Given the description of an element on the screen output the (x, y) to click on. 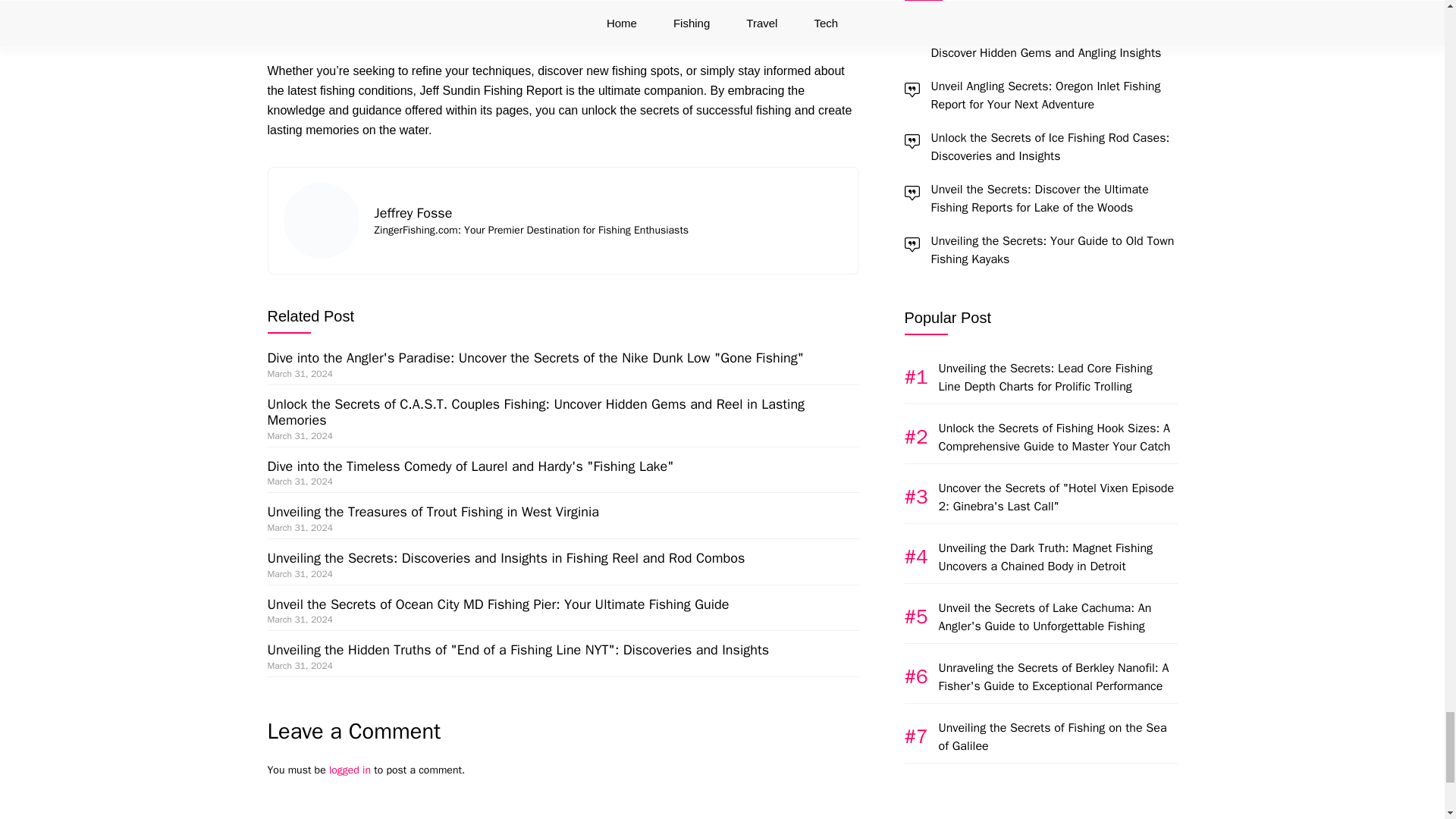
Jeffrey Fosse (413, 212)
Unveiling the Treasures of Trout Fishing in West Virginia (432, 511)
